Given the description of an element on the screen output the (x, y) to click on. 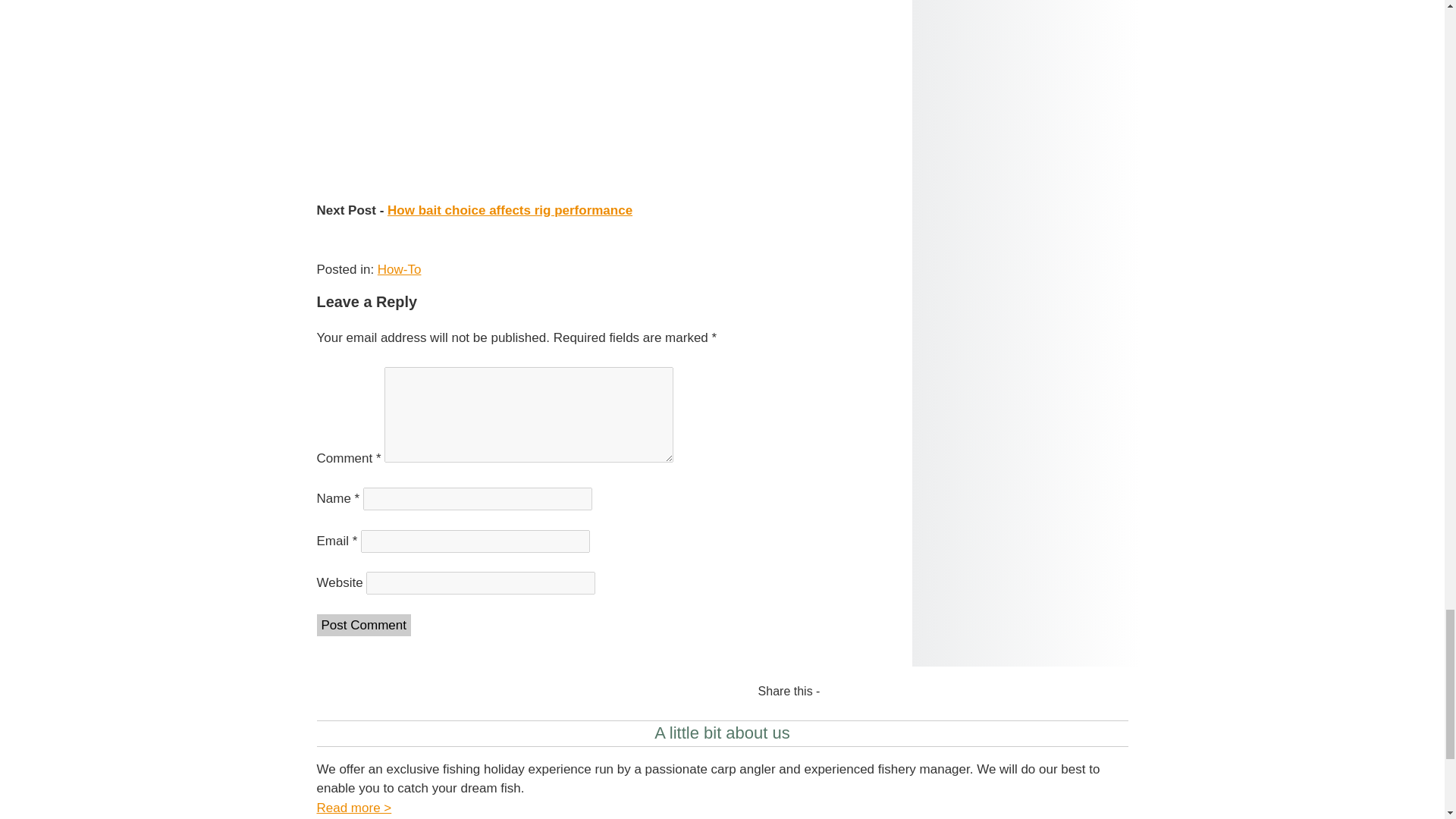
Post Comment (363, 625)
